Given the description of an element on the screen output the (x, y) to click on. 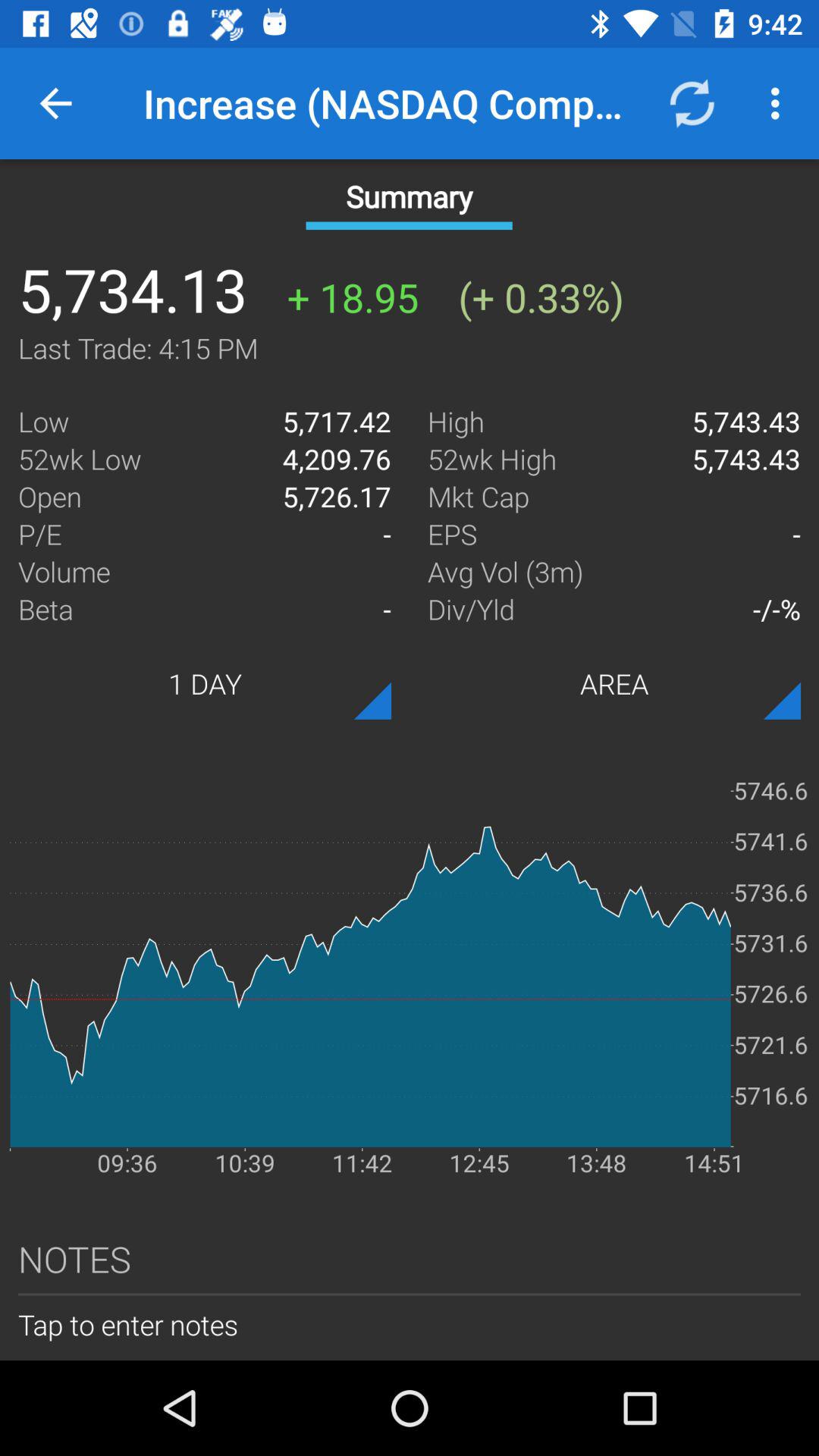
tap the item below the 1 day item (409, 963)
